Given the description of an element on the screen output the (x, y) to click on. 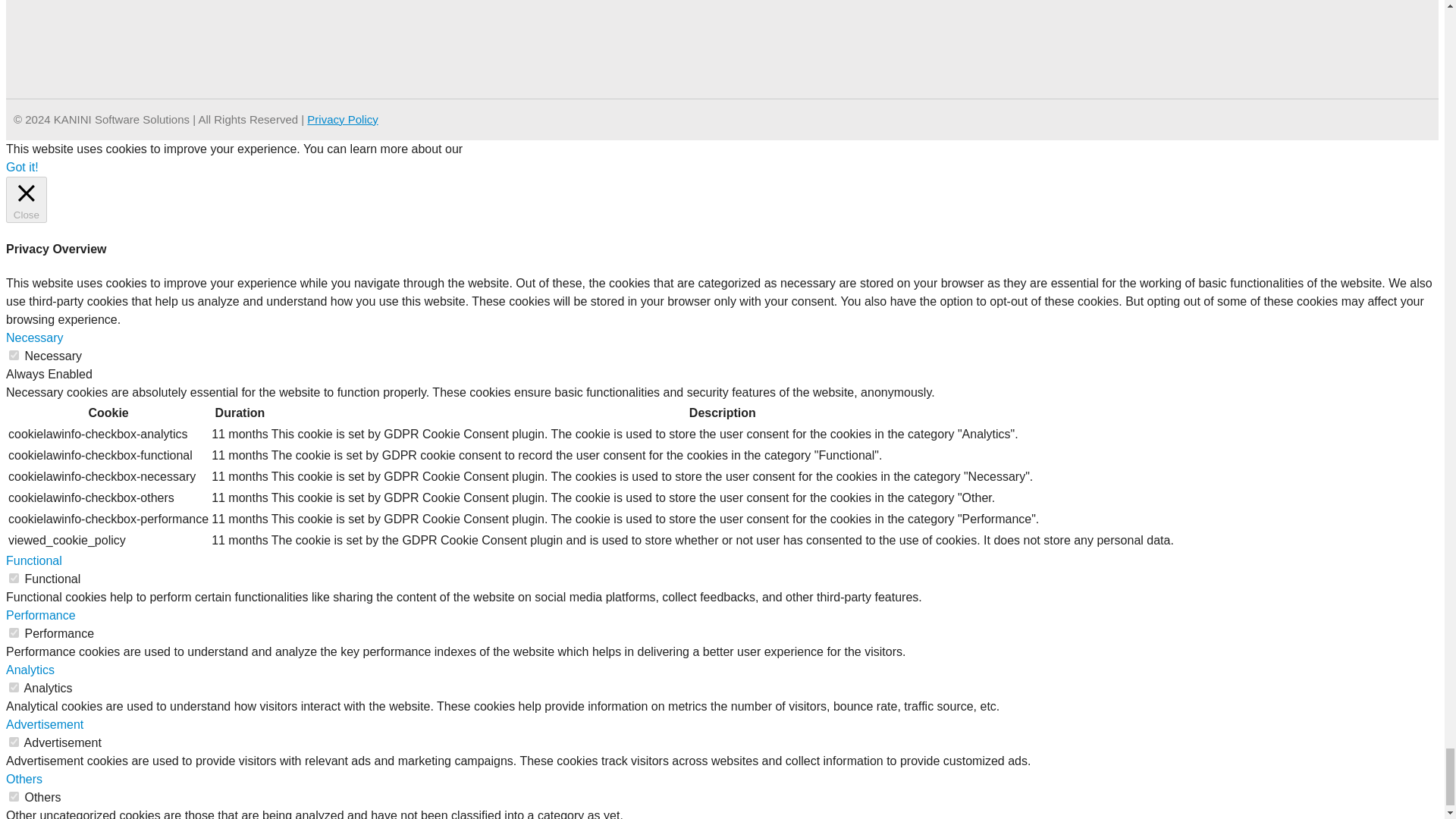
on (13, 578)
on (13, 633)
on (13, 796)
on (13, 687)
on (13, 355)
on (13, 741)
